Given the description of an element on the screen output the (x, y) to click on. 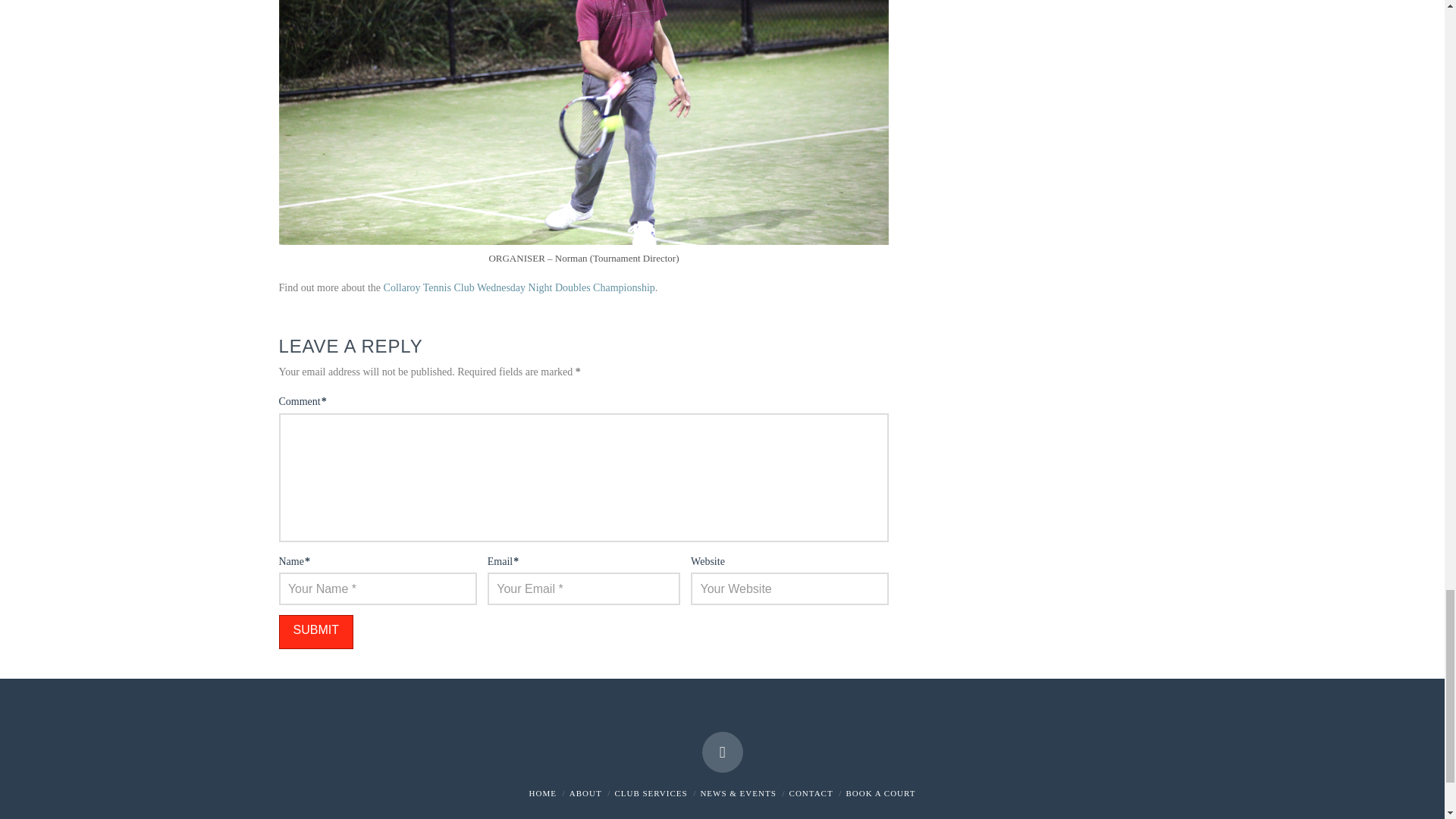
Submit (316, 632)
Facebook (721, 752)
Collaroy Tennis Club Wednesday Night Doubles Championship (519, 287)
